Given the description of an element on the screen output the (x, y) to click on. 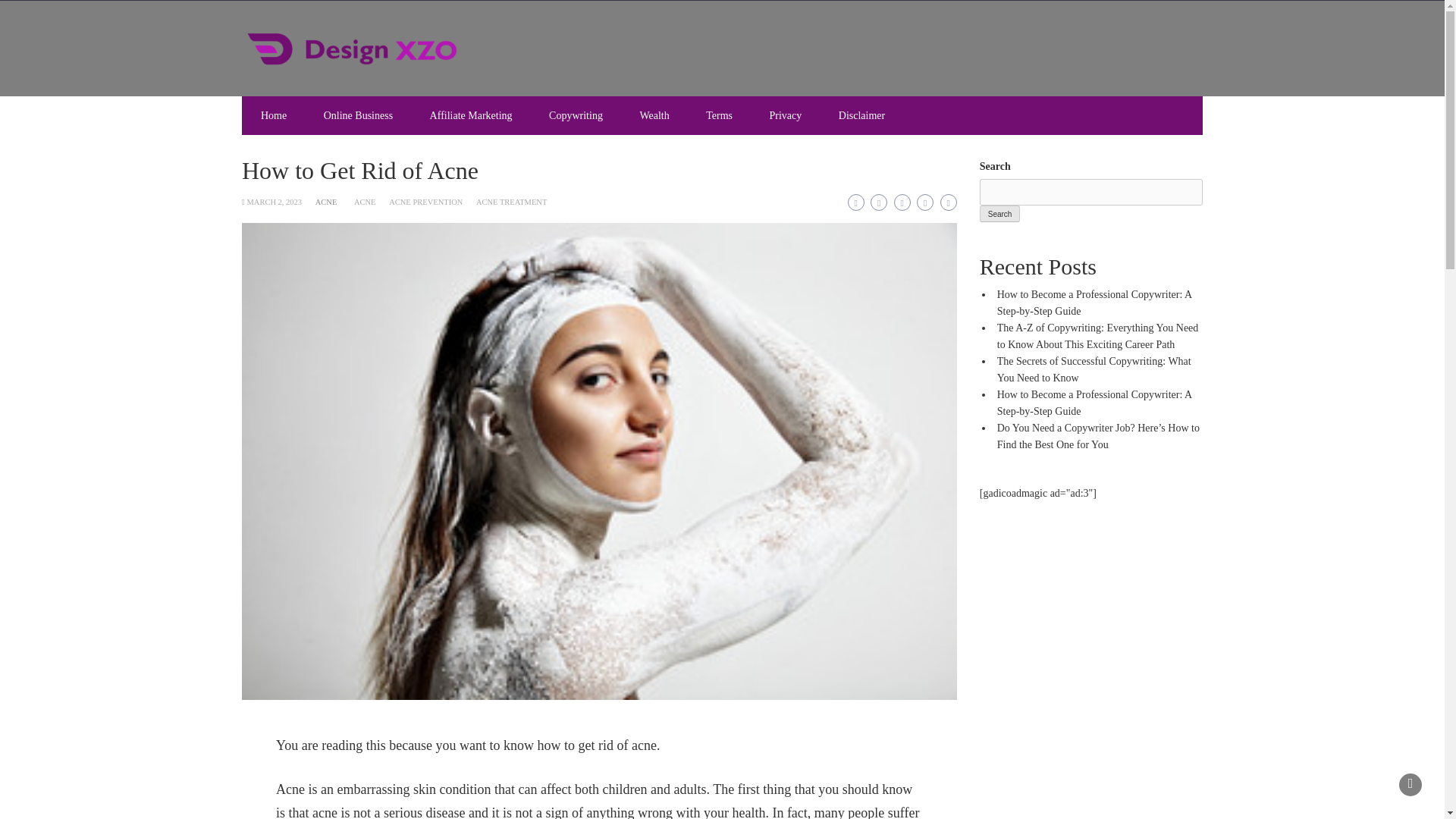
Copywriting (575, 115)
Search (999, 213)
ACNE (326, 202)
Home (273, 115)
Terms (719, 115)
The Secrets of Successful Copywriting: What You Need to Know (1094, 369)
Disclaimer (861, 115)
MARCH 2, 2023 (273, 202)
ACNE TREATMENT (511, 202)
Online Business (357, 115)
ACNE (364, 202)
Wealth (654, 115)
ACNE PREVENTION (425, 202)
Affiliate Marketing (470, 115)
